Given the description of an element on the screen output the (x, y) to click on. 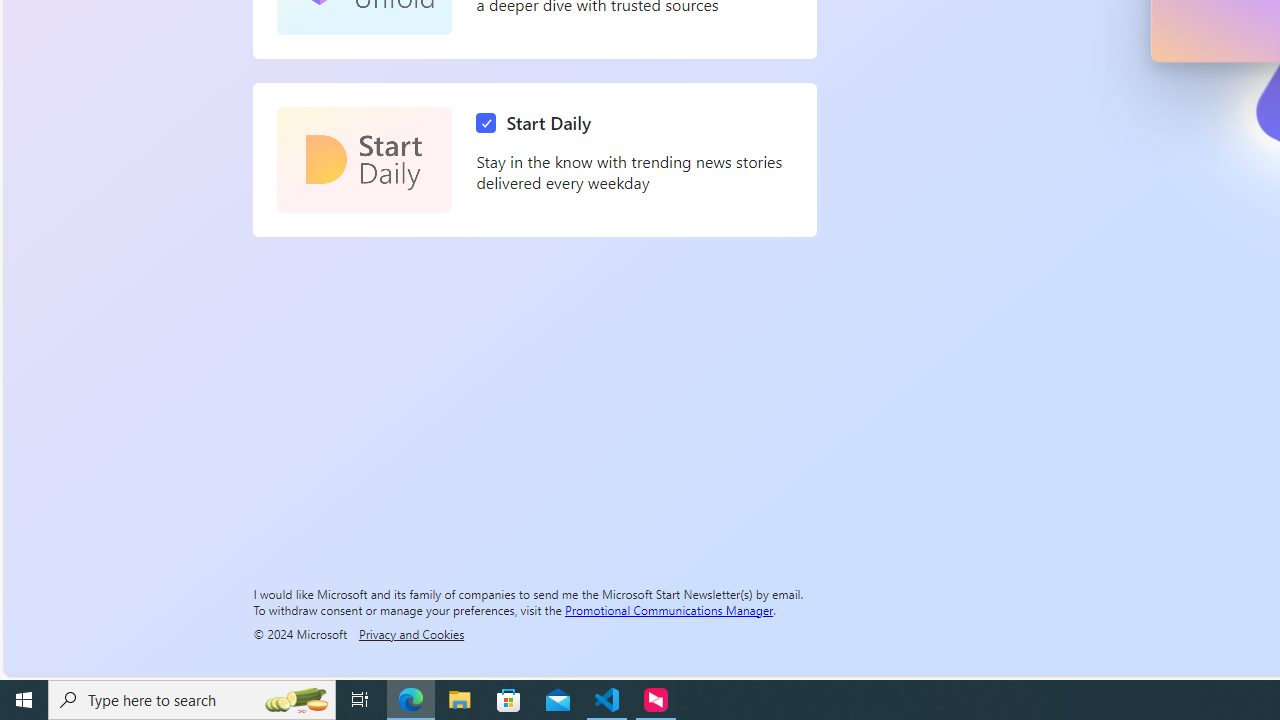
Promotional Communications Manager (669, 609)
Start Daily (364, 160)
Privacy and Cookies (411, 633)
Start Daily (538, 123)
